Given the description of an element on the screen output the (x, y) to click on. 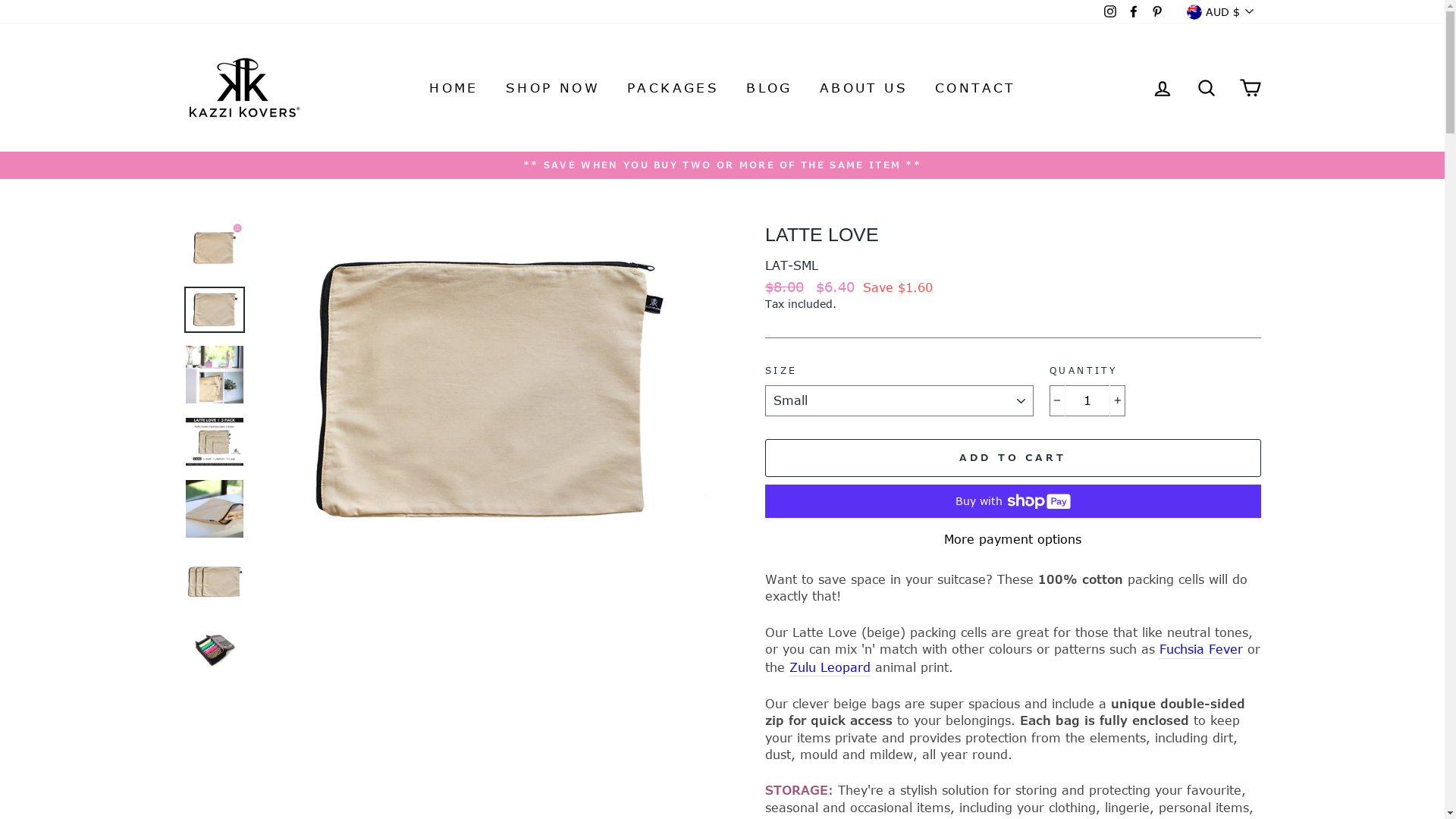
Instagram Element type: text (1109, 11)
LOG IN Element type: text (1161, 87)
AUD $ Element type: text (1220, 11)
SHOP NOW Element type: text (552, 87)
CONTACT Element type: text (974, 87)
Pinterest Element type: text (1156, 11)
Fuchsia Fever Element type: text (1200, 649)
ADD TO CART Element type: text (1012, 457)
HOME Element type: text (453, 87)
PACKAGES Element type: text (672, 87)
+ Element type: text (1116, 400)
** SAVE WHEN YOU BUY TWO OR MORE OF THE SAME ITEM ** Element type: text (722, 165)
BLOG Element type: text (768, 87)
Facebook Element type: text (1133, 11)
ABOUT US Element type: text (863, 87)
SEARCH Element type: text (1205, 87)
Zulu Leopard Element type: text (828, 667)
More payment options Element type: text (1012, 539)
Skip to content Element type: text (0, 0)
CART Element type: text (1249, 87)
